Given the description of an element on the screen output the (x, y) to click on. 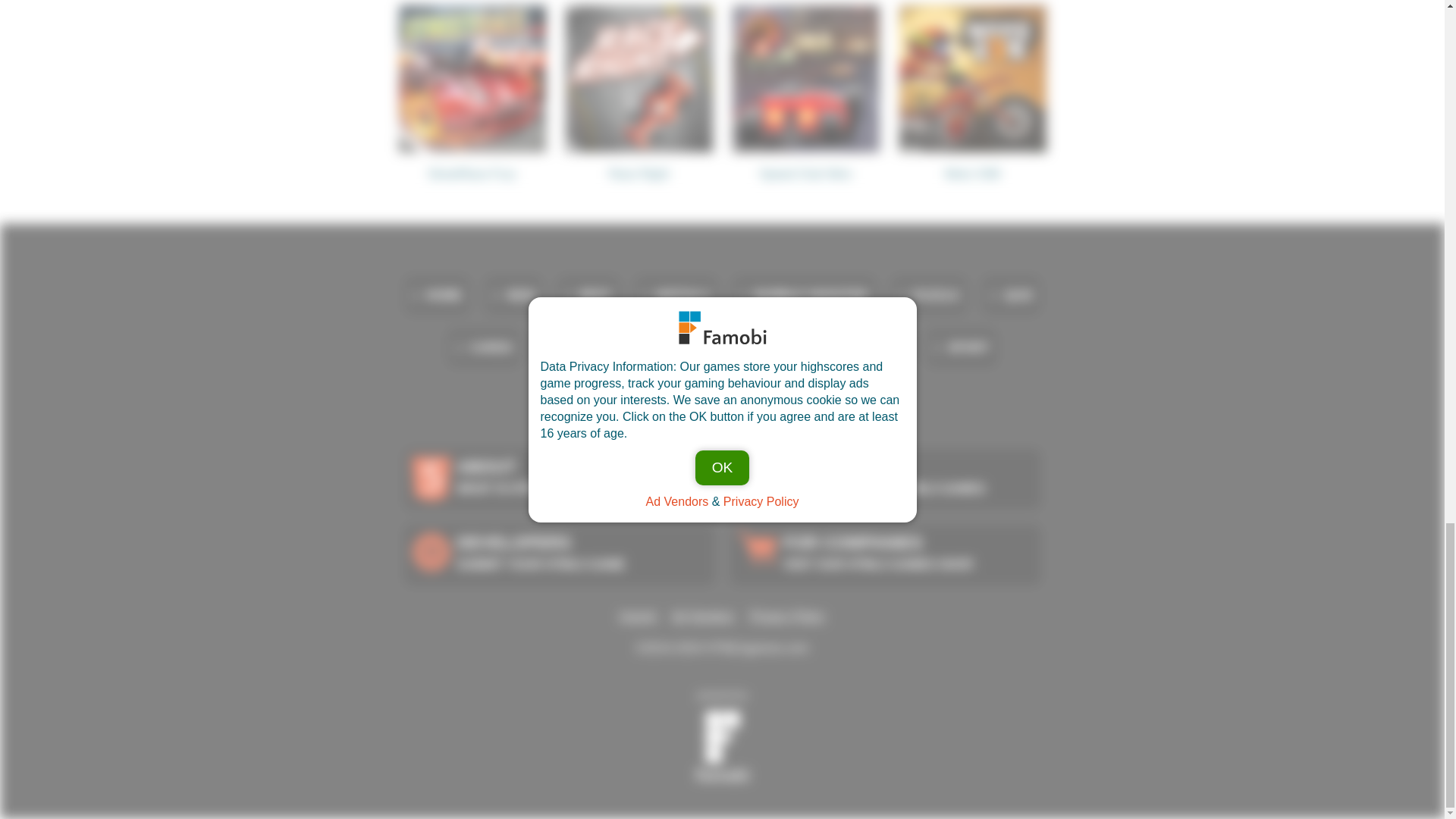
NEW (512, 294)
HOME (437, 294)
